Given the description of an element on the screen output the (x, y) to click on. 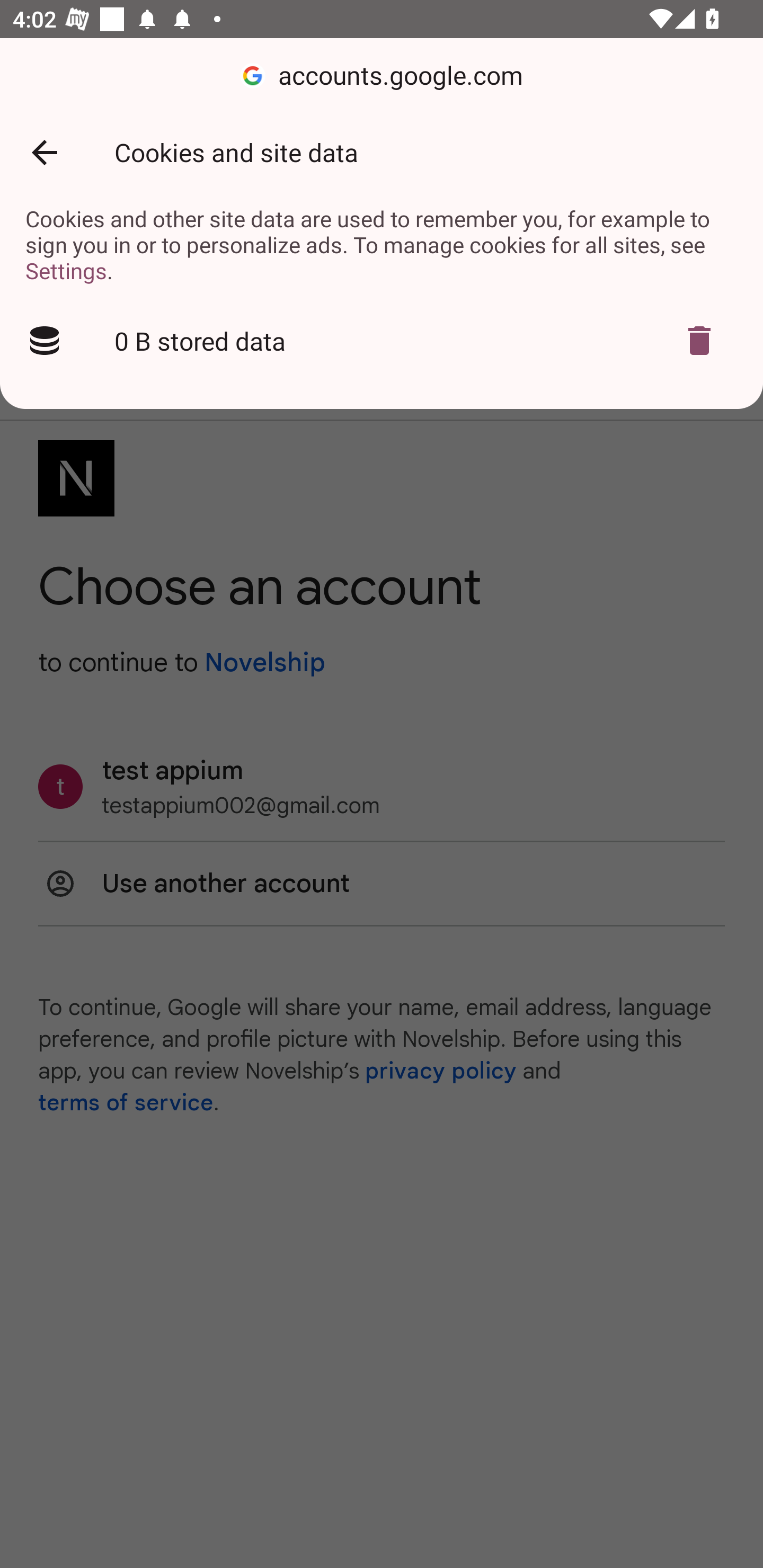
accounts.google.com (381, 75)
Back (44, 152)
0 B stored data Delete cookies? (381, 340)
